Given the description of an element on the screen output the (x, y) to click on. 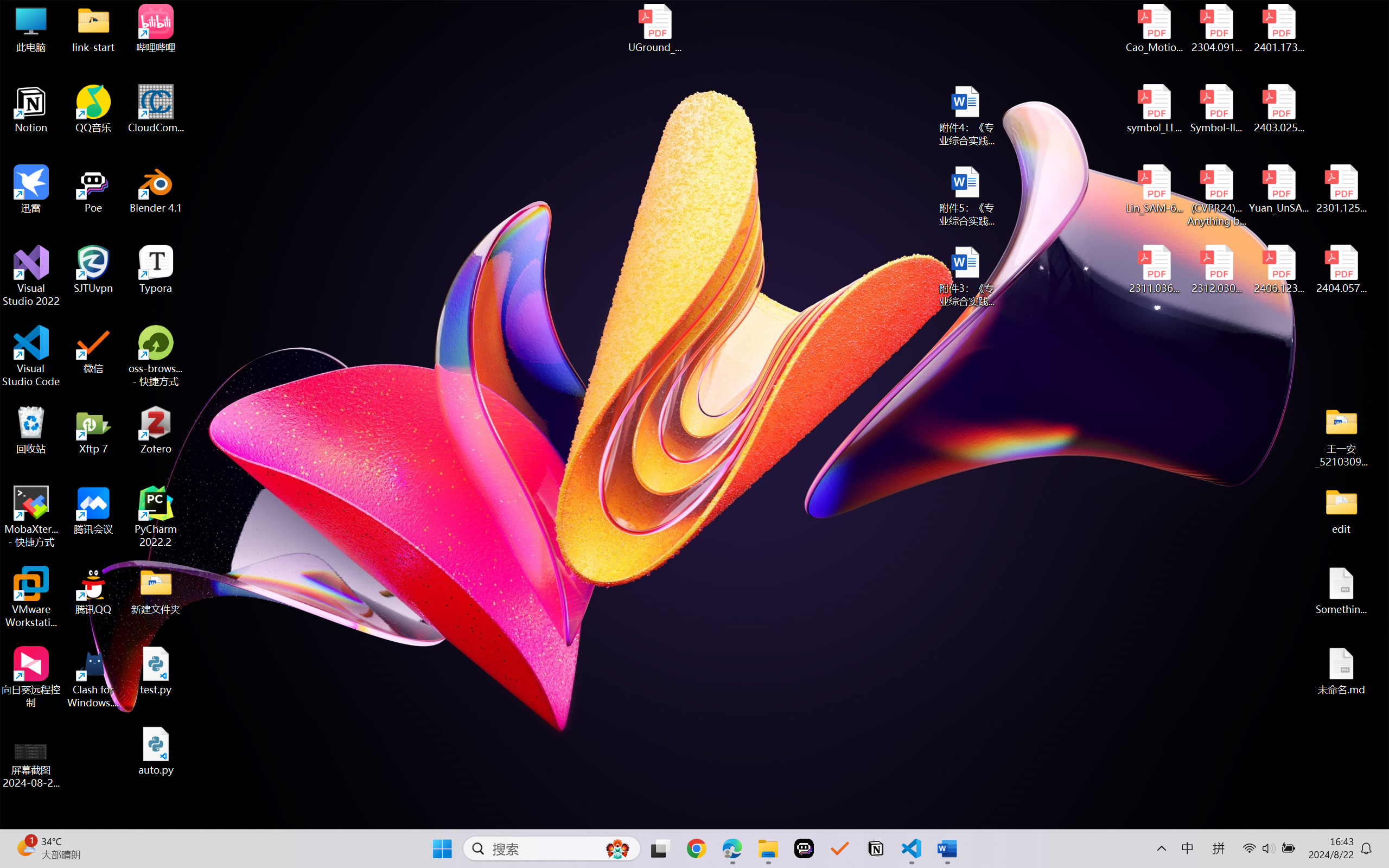
SJTUvpn (93, 269)
CloudCompare (156, 109)
Visual Studio Code (31, 355)
Blender 4.1 (156, 189)
VMware Workstation Pro (31, 597)
PyCharm 2022.2 (156, 516)
